Given the description of an element on the screen output the (x, y) to click on. 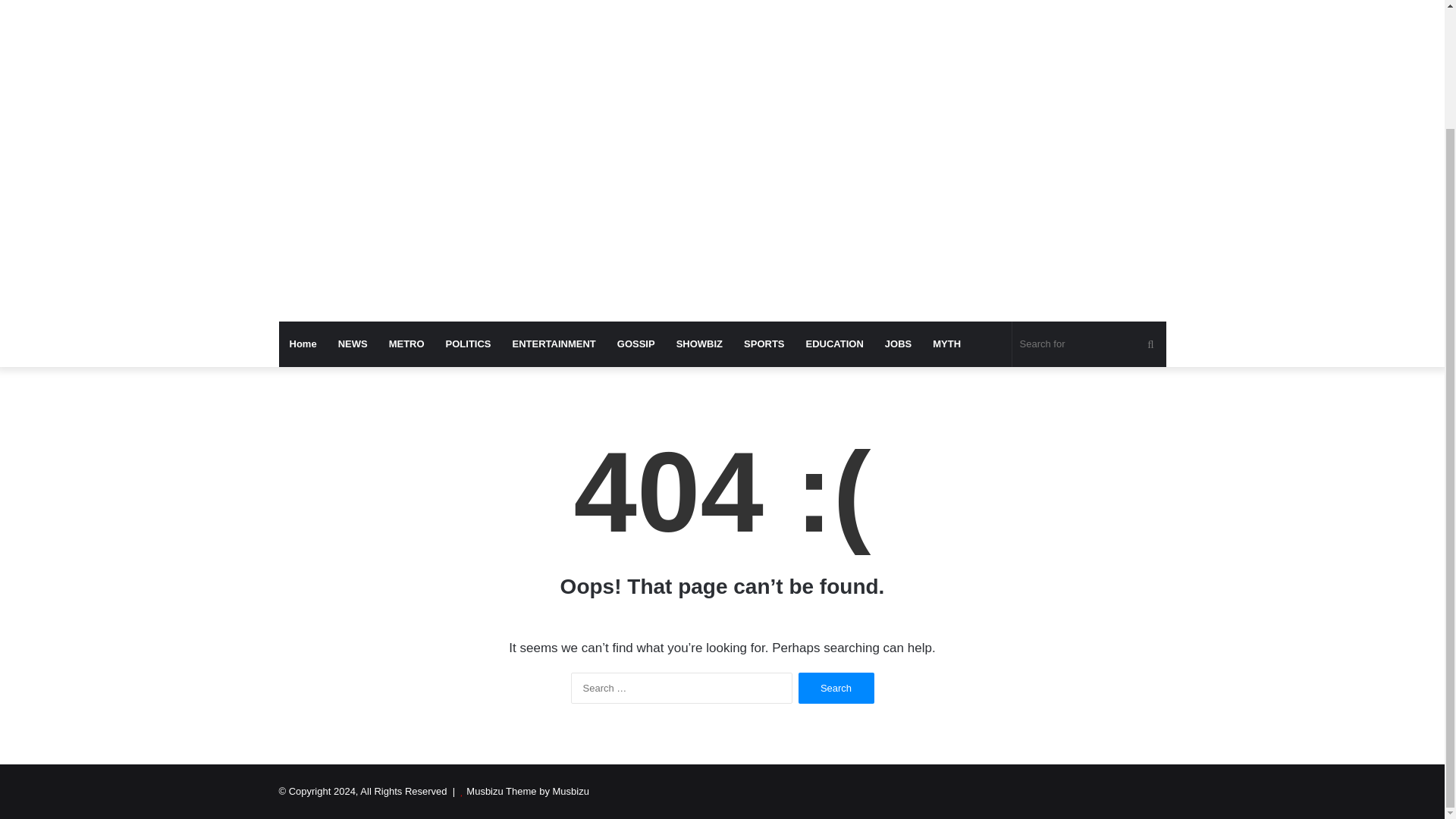
SPORTS (763, 343)
Search (835, 687)
POLITICS (468, 343)
Search (835, 687)
METRO (406, 343)
SHOWBIZ (699, 343)
EDUCATION (834, 343)
GOSSIP (636, 343)
NEWS (352, 343)
ENTERTAINMENT (554, 343)
